Given the description of an element on the screen output the (x, y) to click on. 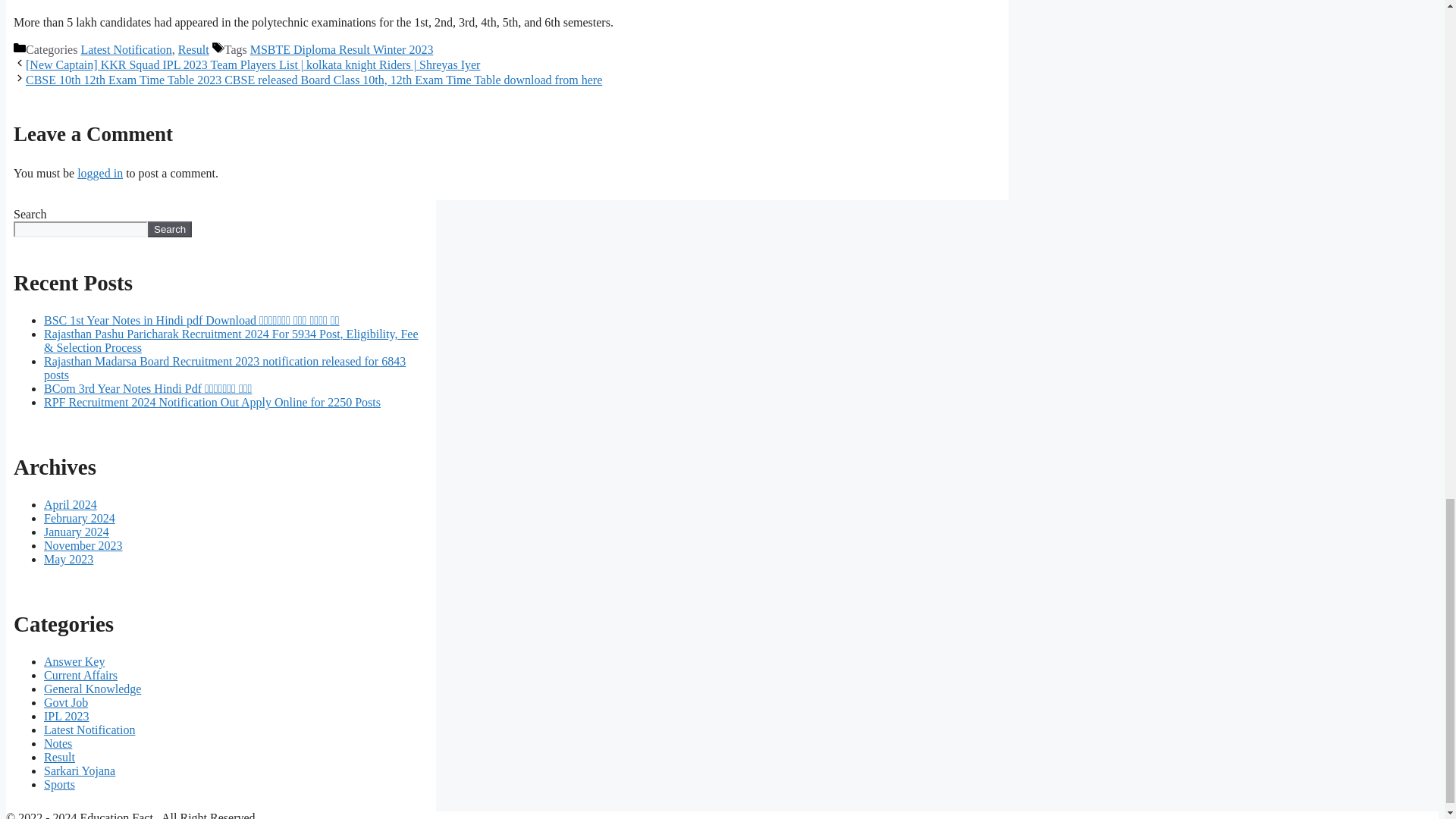
Result (193, 49)
Search (170, 229)
logged in (99, 173)
Latest Notification (125, 49)
MSBTE Diploma Result Winter 2023 (341, 49)
